Given the description of an element on the screen output the (x, y) to click on. 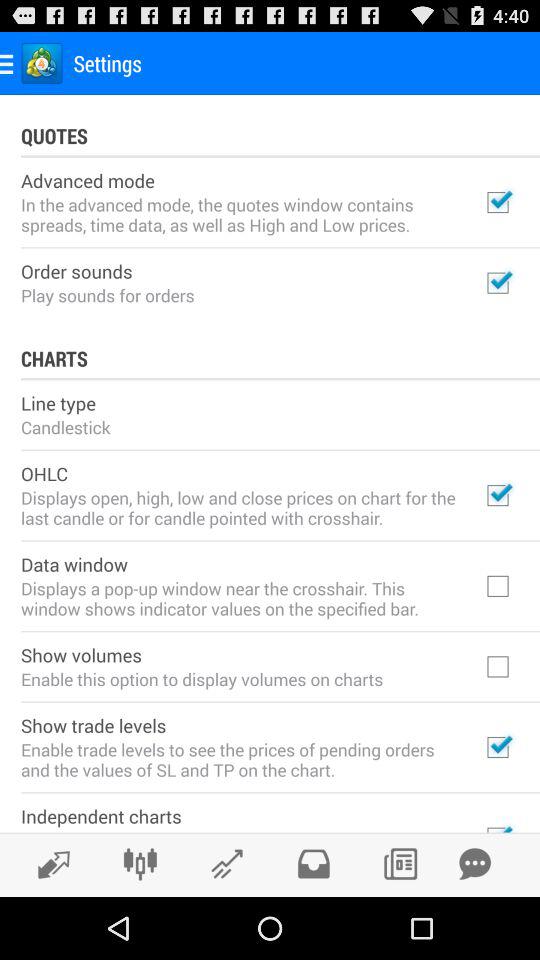
settings tab (140, 863)
